Given the description of an element on the screen output the (x, y) to click on. 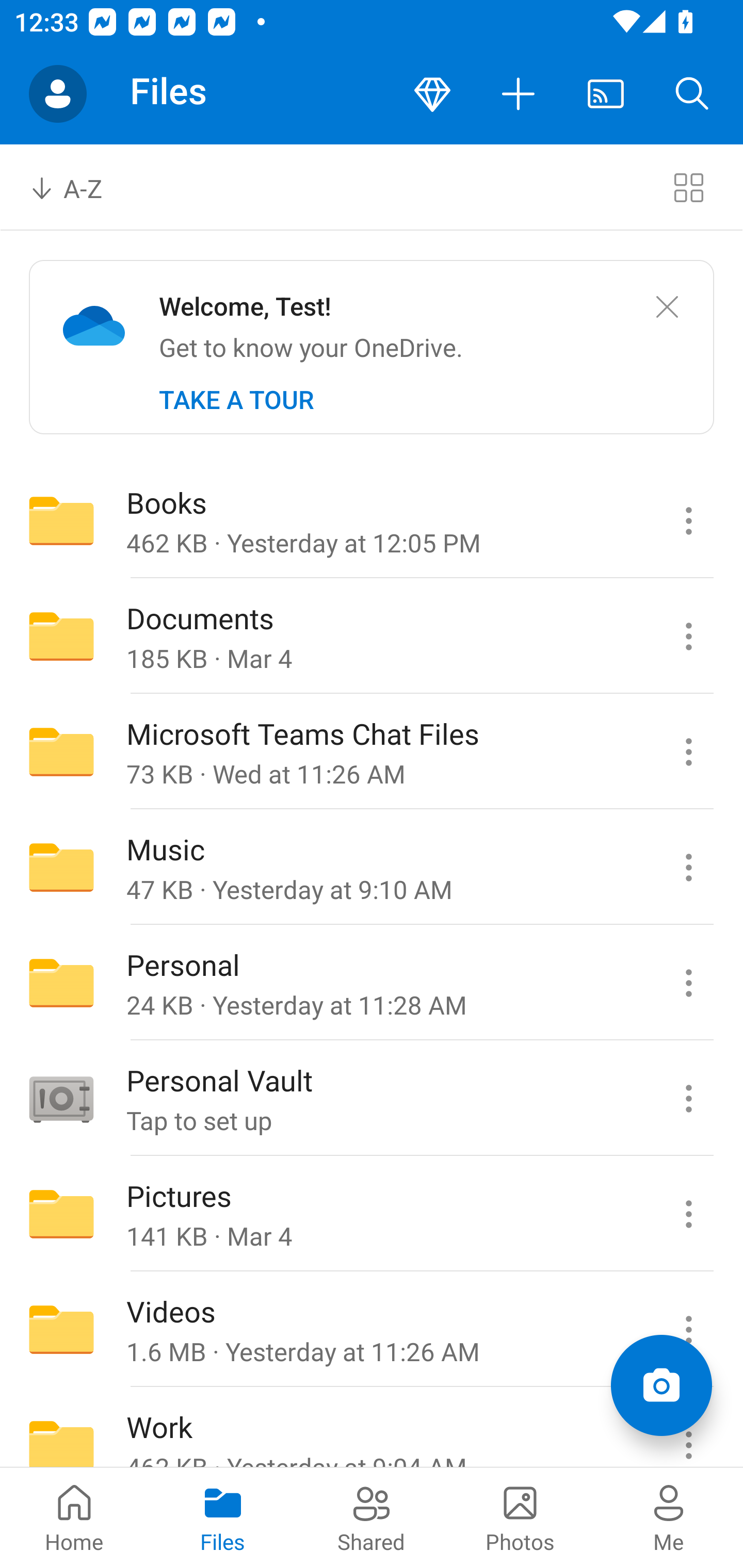
Account switcher (57, 93)
Cast. Disconnected (605, 93)
Premium button (432, 93)
More actions button (518, 93)
Search button (692, 93)
A-Z Sort by combo box, sort by name, A to Z (80, 187)
Switch to tiles view (688, 187)
Close (667, 307)
TAKE A TOUR (236, 399)
Books commands (688, 520)
Folder Documents 185 KB · Mar 4 Documents commands (371, 636)
Documents commands (688, 636)
Microsoft Teams Chat Files commands (688, 751)
Music commands (688, 867)
Personal commands (688, 983)
Personal Vault commands (688, 1099)
Folder Pictures 141 KB · Mar 4 Pictures commands (371, 1214)
Pictures commands (688, 1214)
Videos commands (688, 1329)
Add items Scan (660, 1385)
Work commands (688, 1427)
Home pivot Home (74, 1517)
Shared pivot Shared (371, 1517)
Photos pivot Photos (519, 1517)
Me pivot Me (668, 1517)
